Given the description of an element on the screen output the (x, y) to click on. 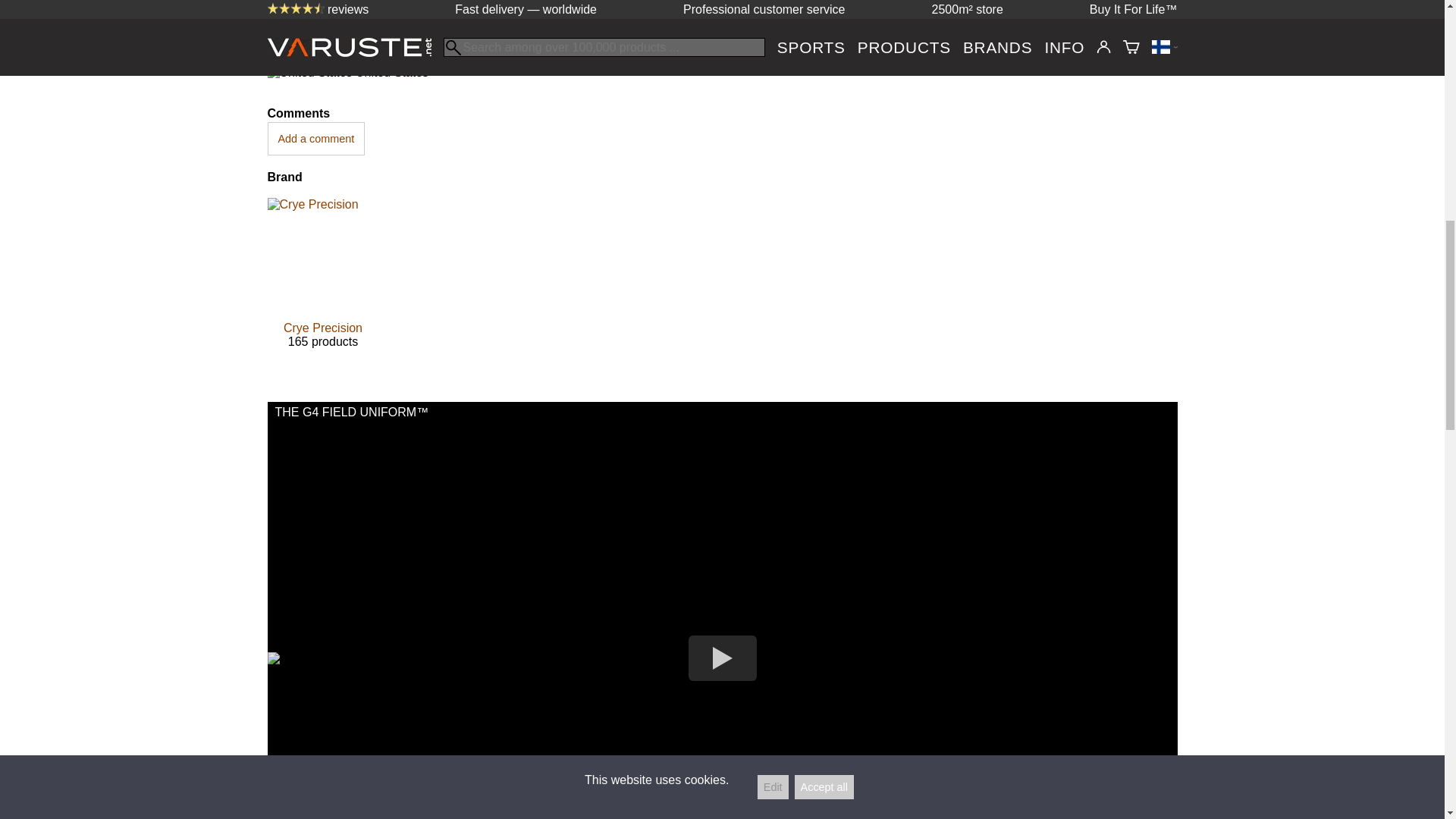
United States (309, 72)
Add a comment (315, 138)
